Given the description of an element on the screen output the (x, y) to click on. 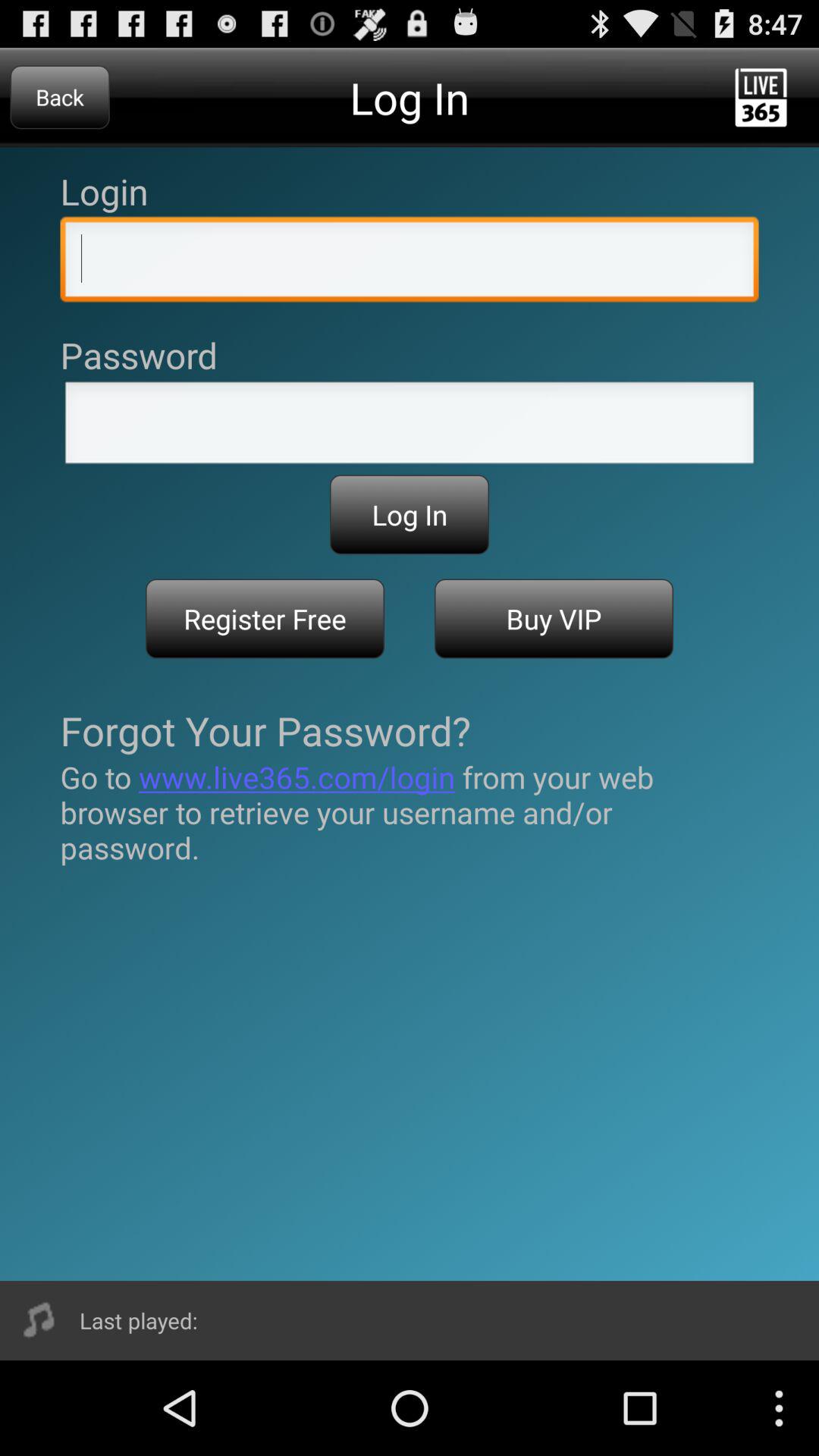
open the go to www item (409, 812)
